Given the description of an element on the screen output the (x, y) to click on. 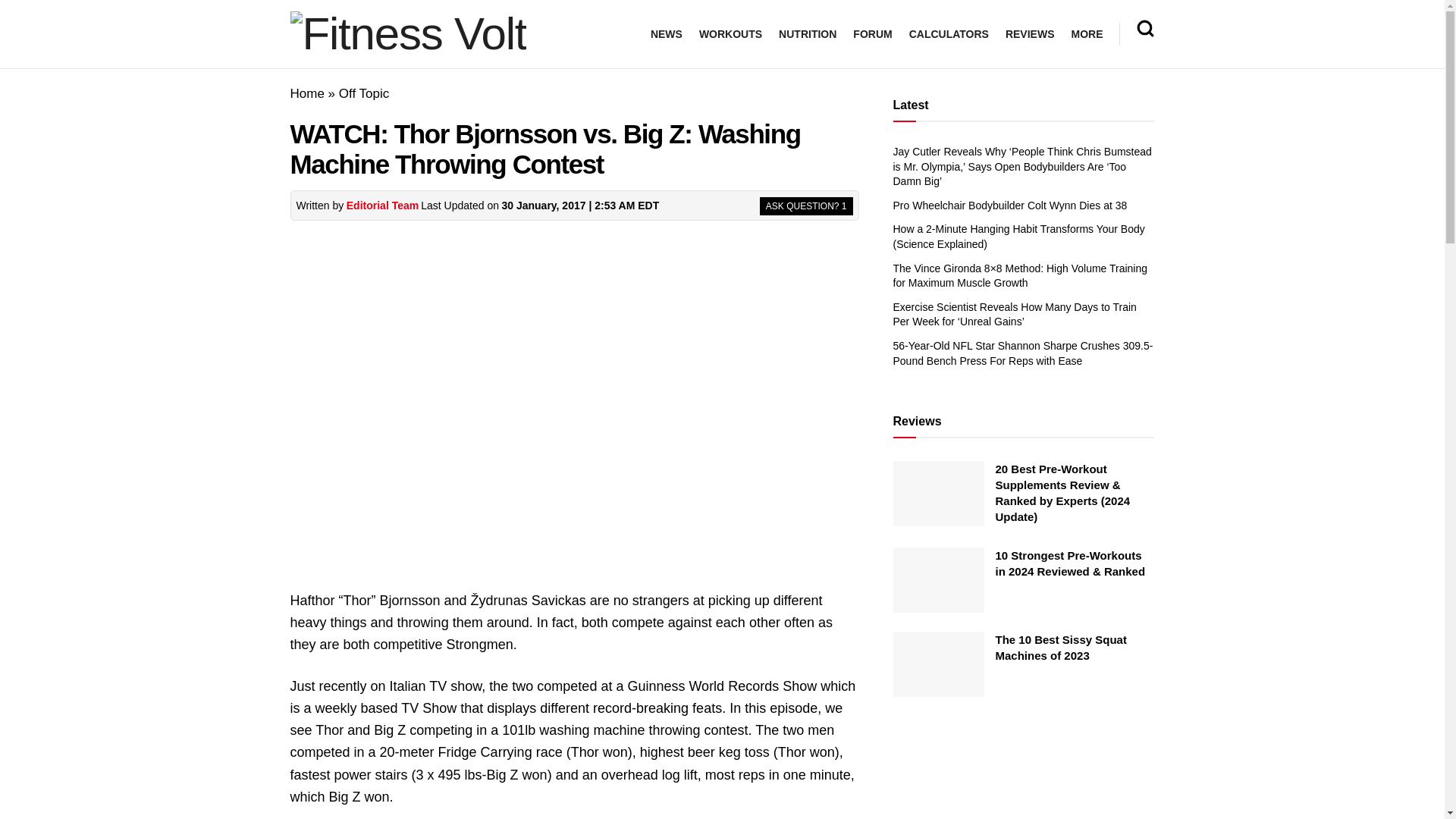
MORE (1086, 34)
FORUM (872, 34)
CALCULATORS (948, 34)
WORKOUTS (729, 34)
REVIEWS (1030, 34)
NUTRITION (806, 34)
NEWS (666, 34)
